Given the description of an element on the screen output the (x, y) to click on. 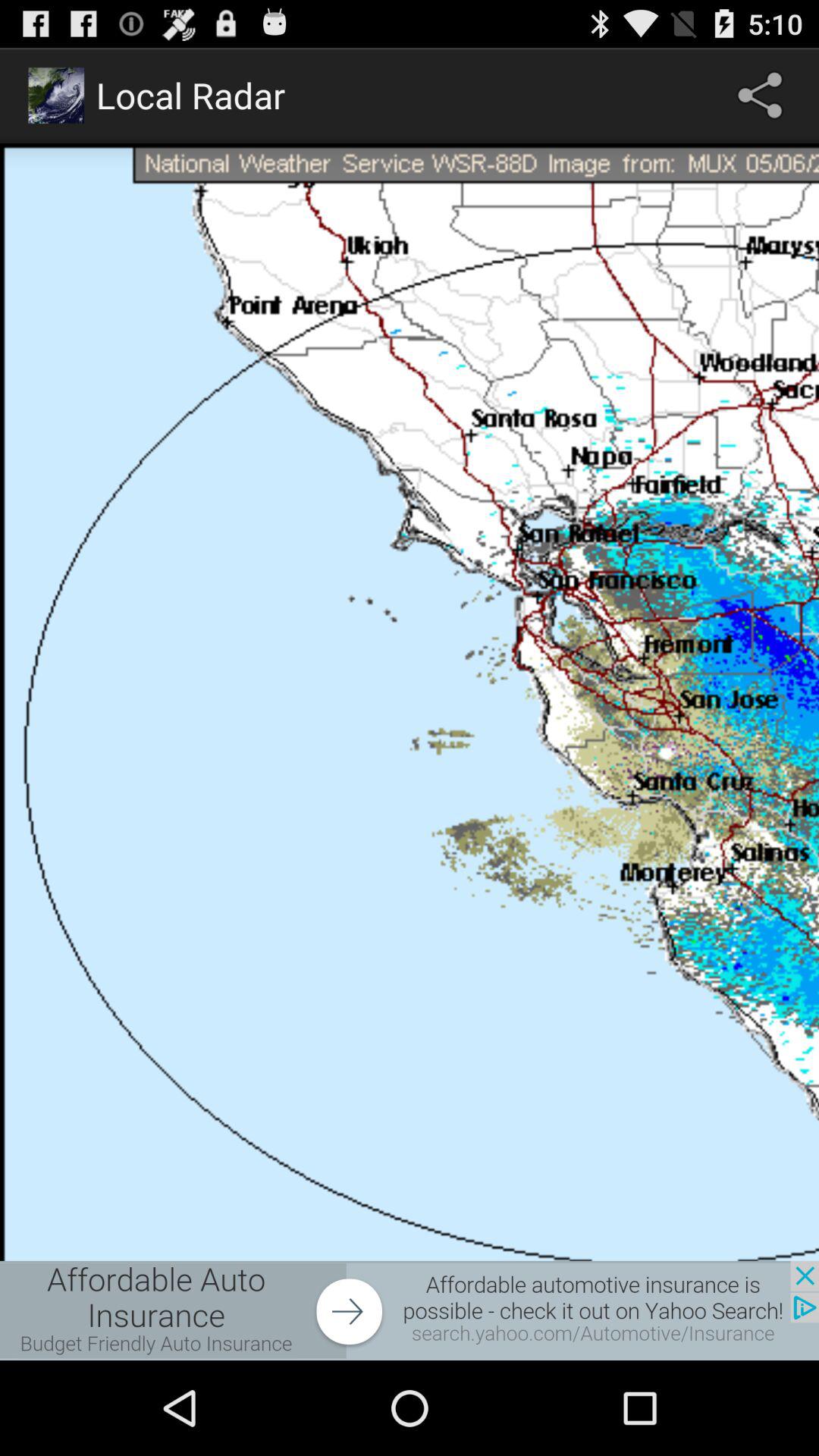
affordable auto insurance (409, 1310)
